Given the description of an element on the screen output the (x, y) to click on. 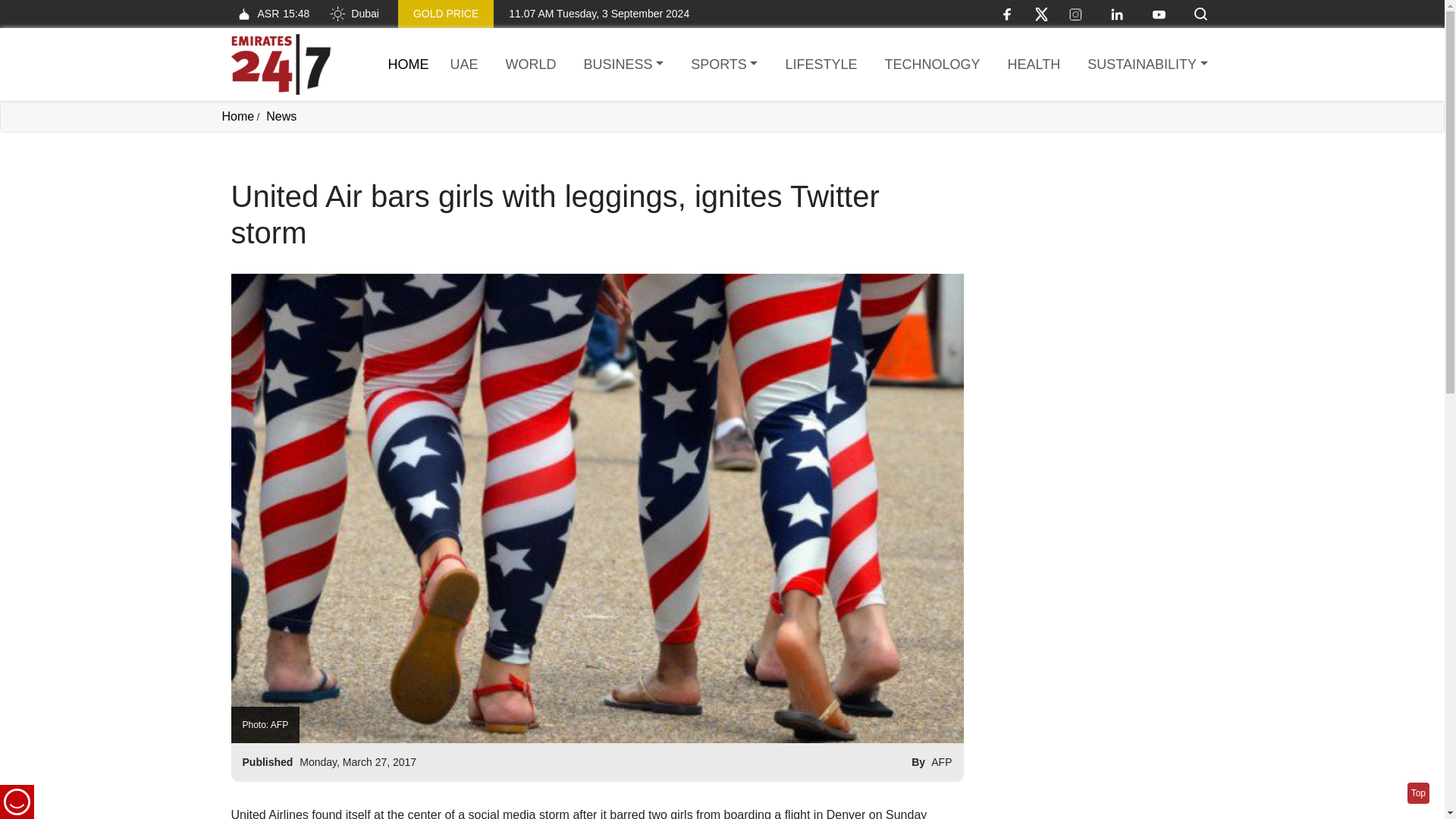
UAE (464, 64)
SPORTS (723, 64)
Home (237, 115)
HOME (408, 63)
SUSTAINABILITY (1146, 64)
BUSINESS (269, 13)
Home (623, 64)
WORLD (408, 63)
TECHNOLOGY (530, 64)
